Given the description of an element on the screen output the (x, y) to click on. 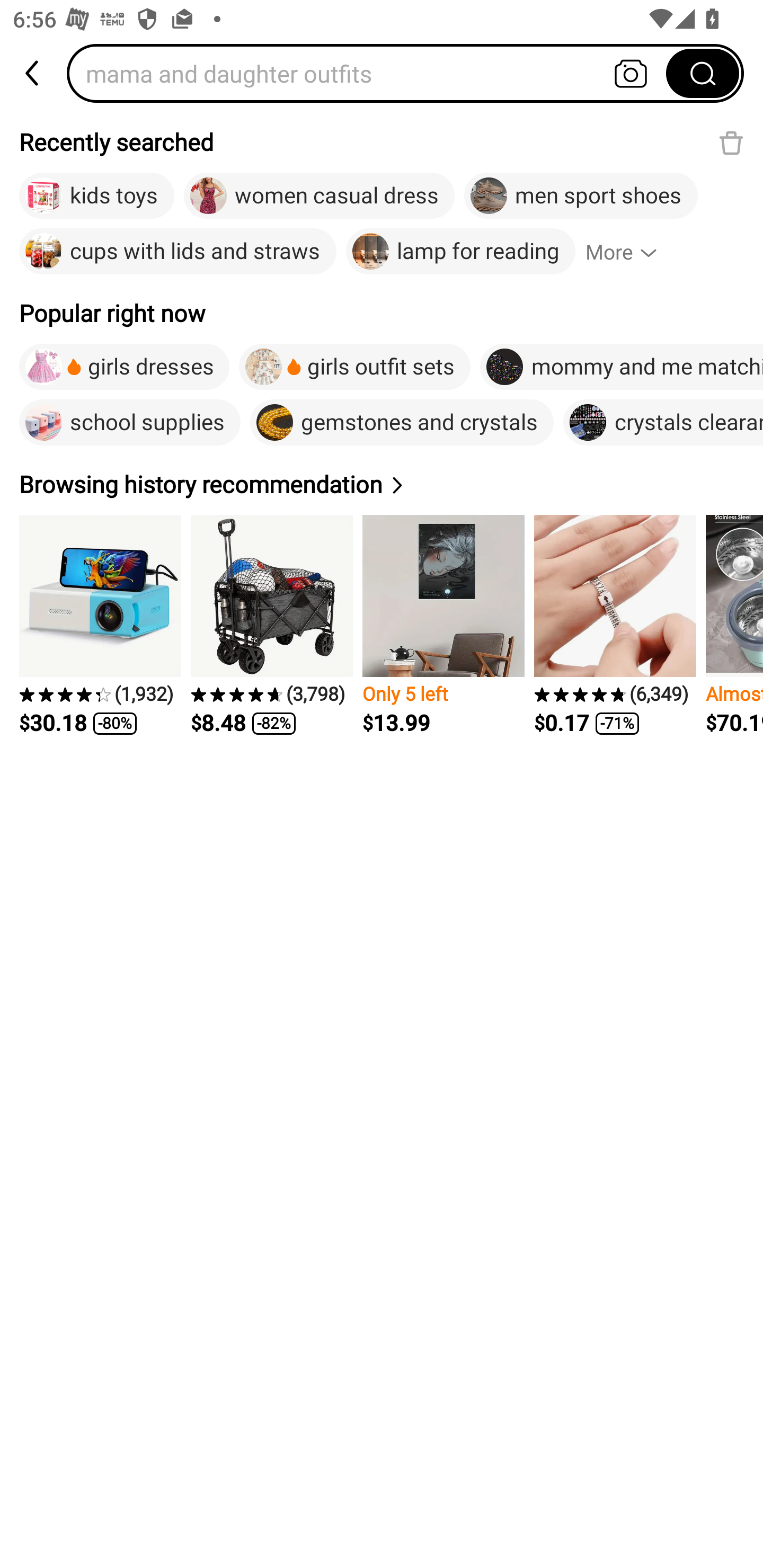
back (33, 72)
mama and daughter outfits (372, 73)
Search by photo (630, 73)
Delete recent search (731, 142)
kids toys (96, 195)
women casual dress (318, 195)
men sport shoes (580, 195)
cups with lids and straws (177, 251)
lamp for reading (460, 251)
More (629, 251)
girls dresses (124, 366)
girls outfit sets (354, 366)
mommy and me matching dresses (621, 366)
school supplies (129, 422)
gemstones and crystals (401, 422)
crystals clearance bulk (663, 422)
Browsing history recommendation (213, 484)
(1,932) $30.18 -80% (100, 625)
(3,798) $8.48 -82% (271, 625)
Only 5 left $13.99 (443, 625)
(6,349) $0.17 -71% (614, 625)
